Given the description of an element on the screen output the (x, y) to click on. 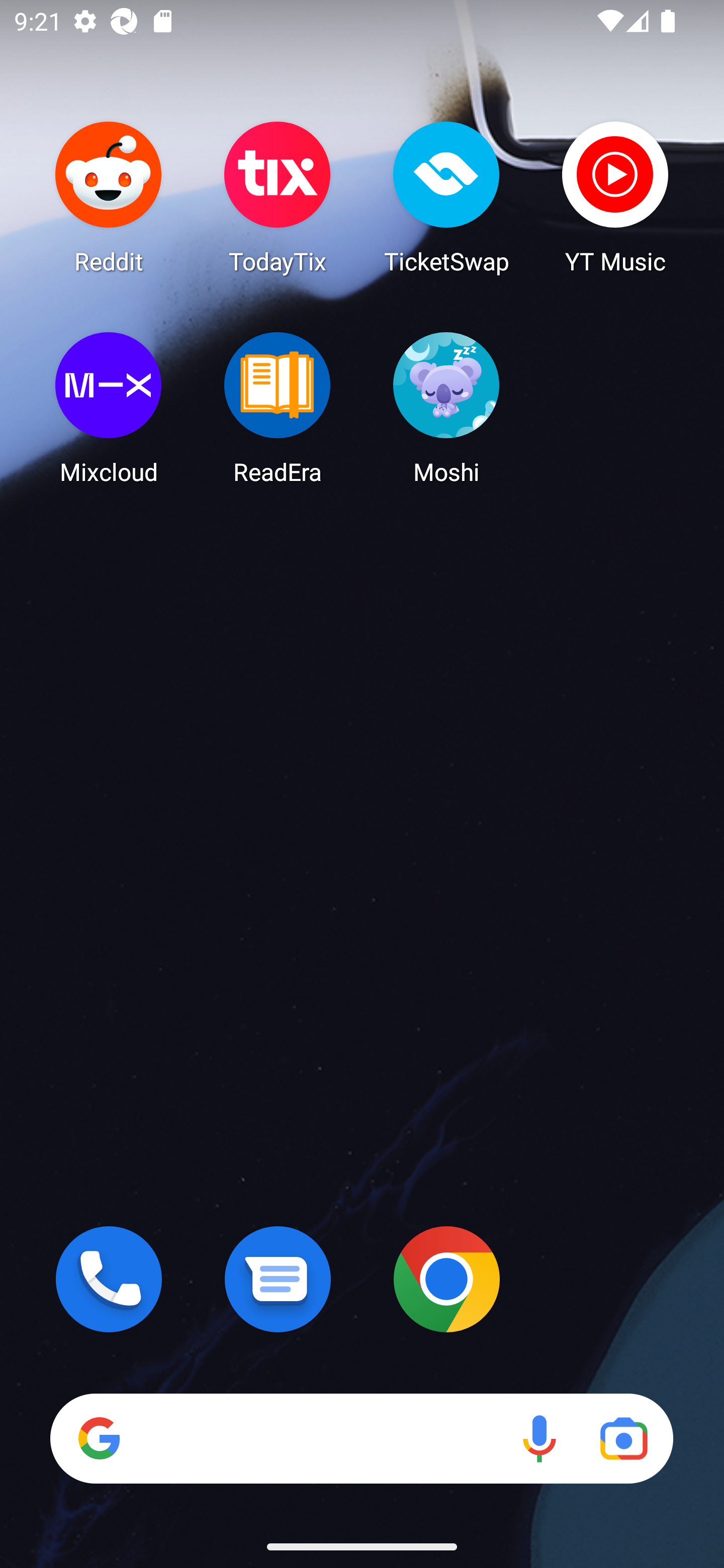
Reddit (108, 196)
TodayTix (277, 196)
TicketSwap (445, 196)
YT Music (615, 196)
Mixcloud (108, 407)
ReadEra (277, 407)
Moshi (445, 407)
Phone (108, 1279)
Messages (277, 1279)
Chrome (446, 1279)
Voice search (539, 1438)
Google Lens (623, 1438)
